Given the description of an element on the screen output the (x, y) to click on. 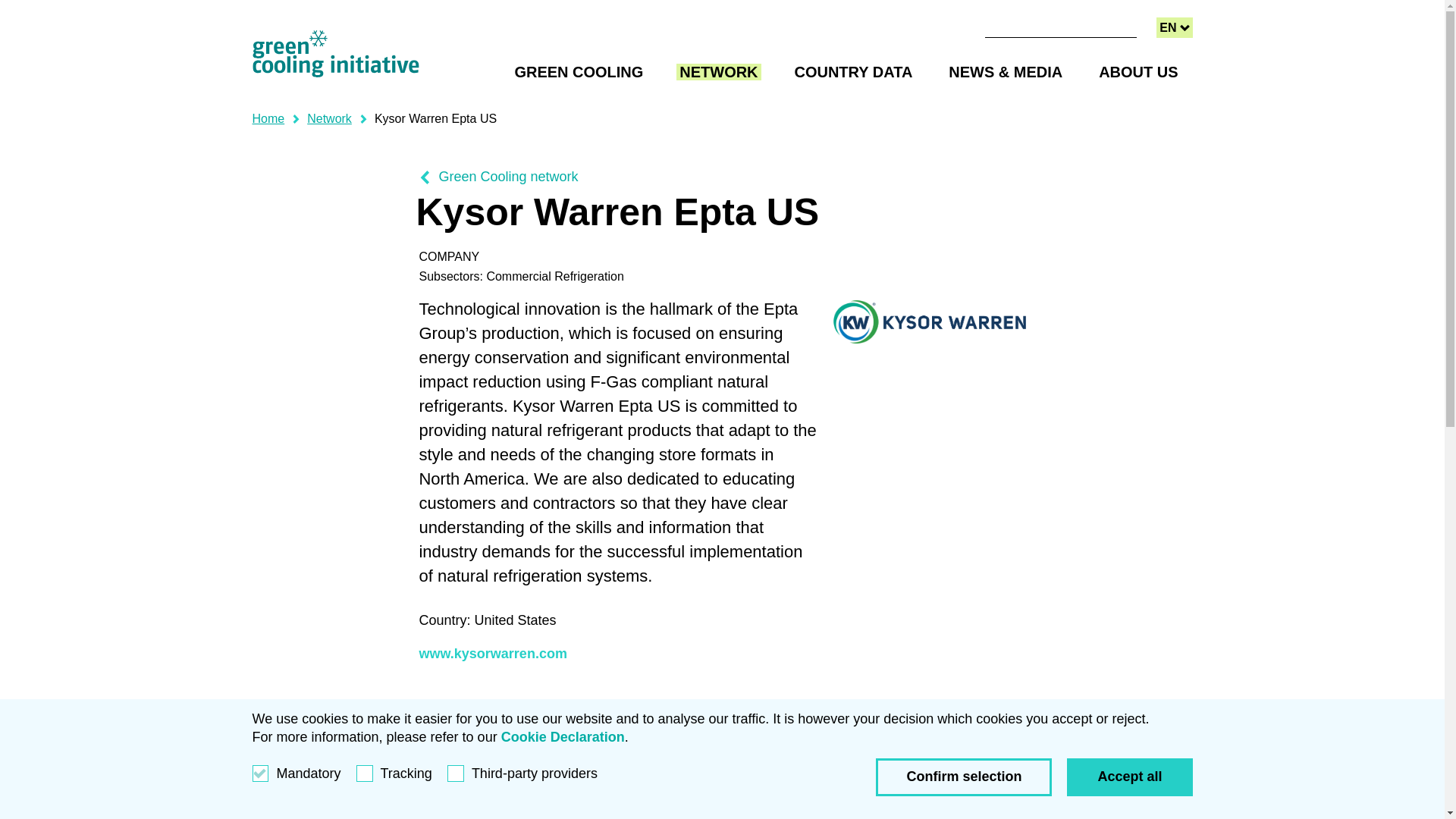
Cookie Declaration (562, 736)
ABOUT US (1138, 71)
Network (329, 118)
on (1174, 27)
COUNTRY DATA (1129, 777)
Confirm selection (853, 71)
Home (963, 777)
GREEN COOLING (267, 118)
